Given the description of an element on the screen output the (x, y) to click on. 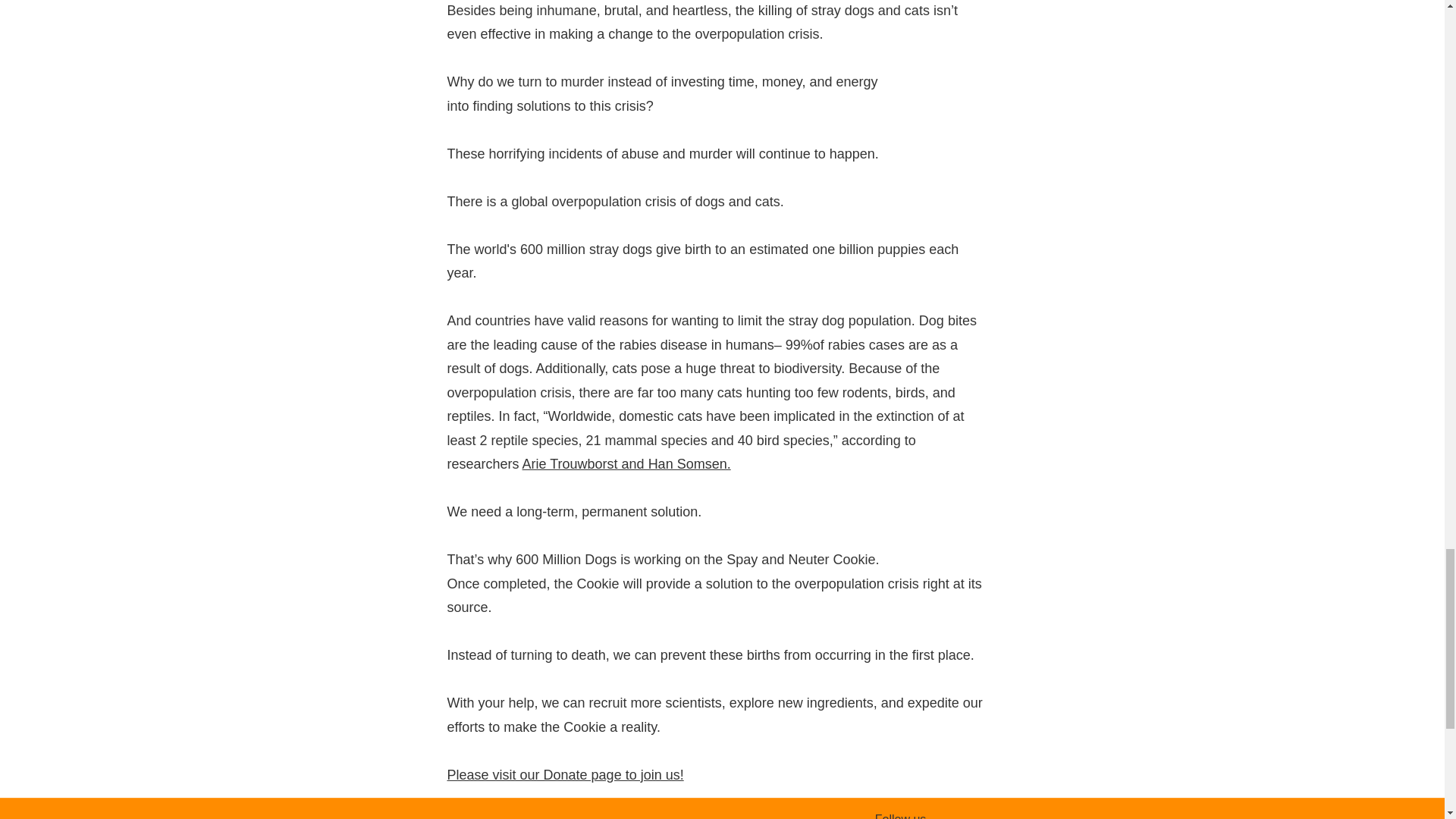
Arie Trouwborst and Han Somsen. (626, 463)
Please visit our Donate page to join us! (565, 774)
